Given the description of an element on the screen output the (x, y) to click on. 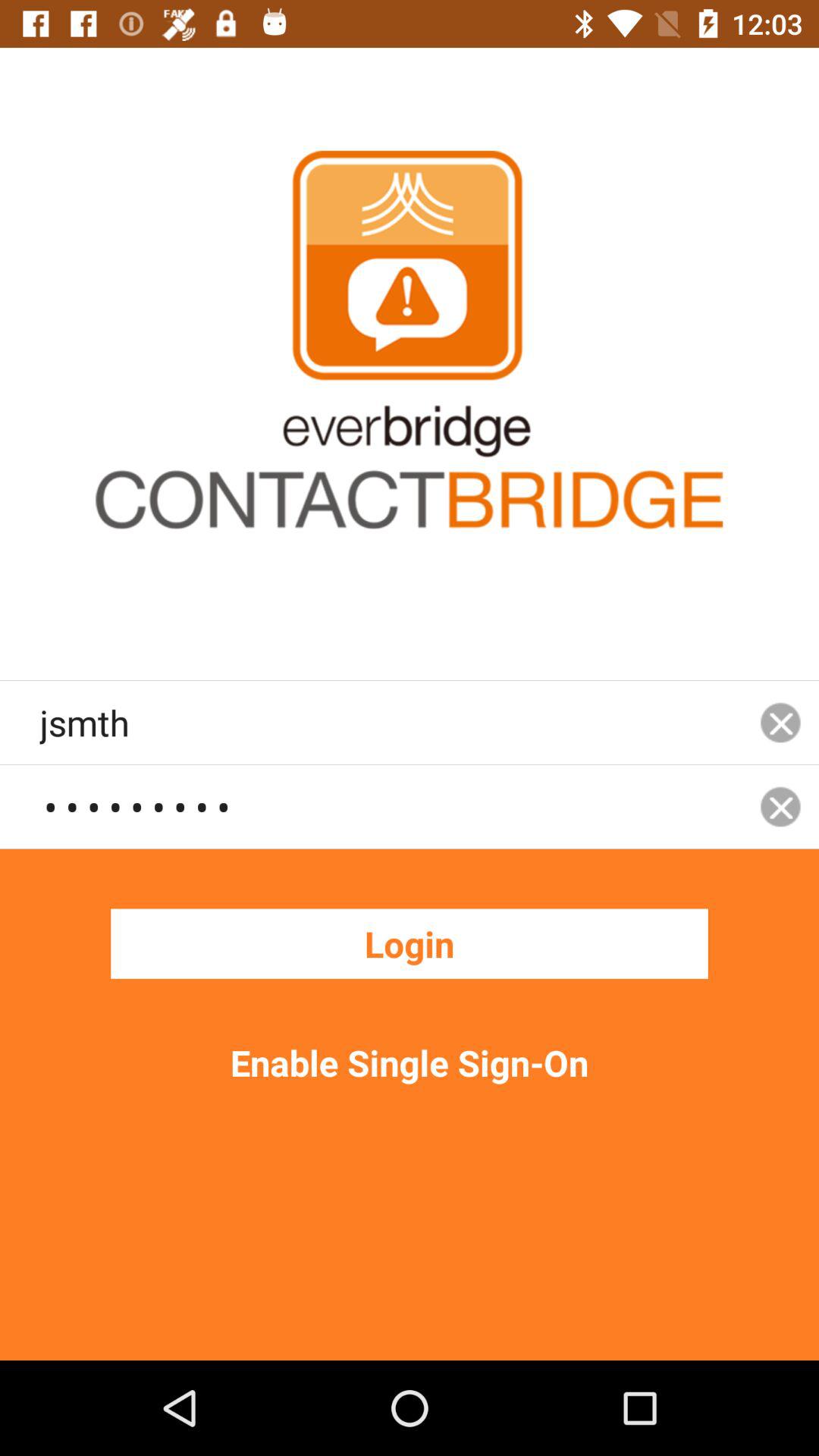
turn off the icon above the enable single sign icon (409, 943)
